Given the description of an element on the screen output the (x, y) to click on. 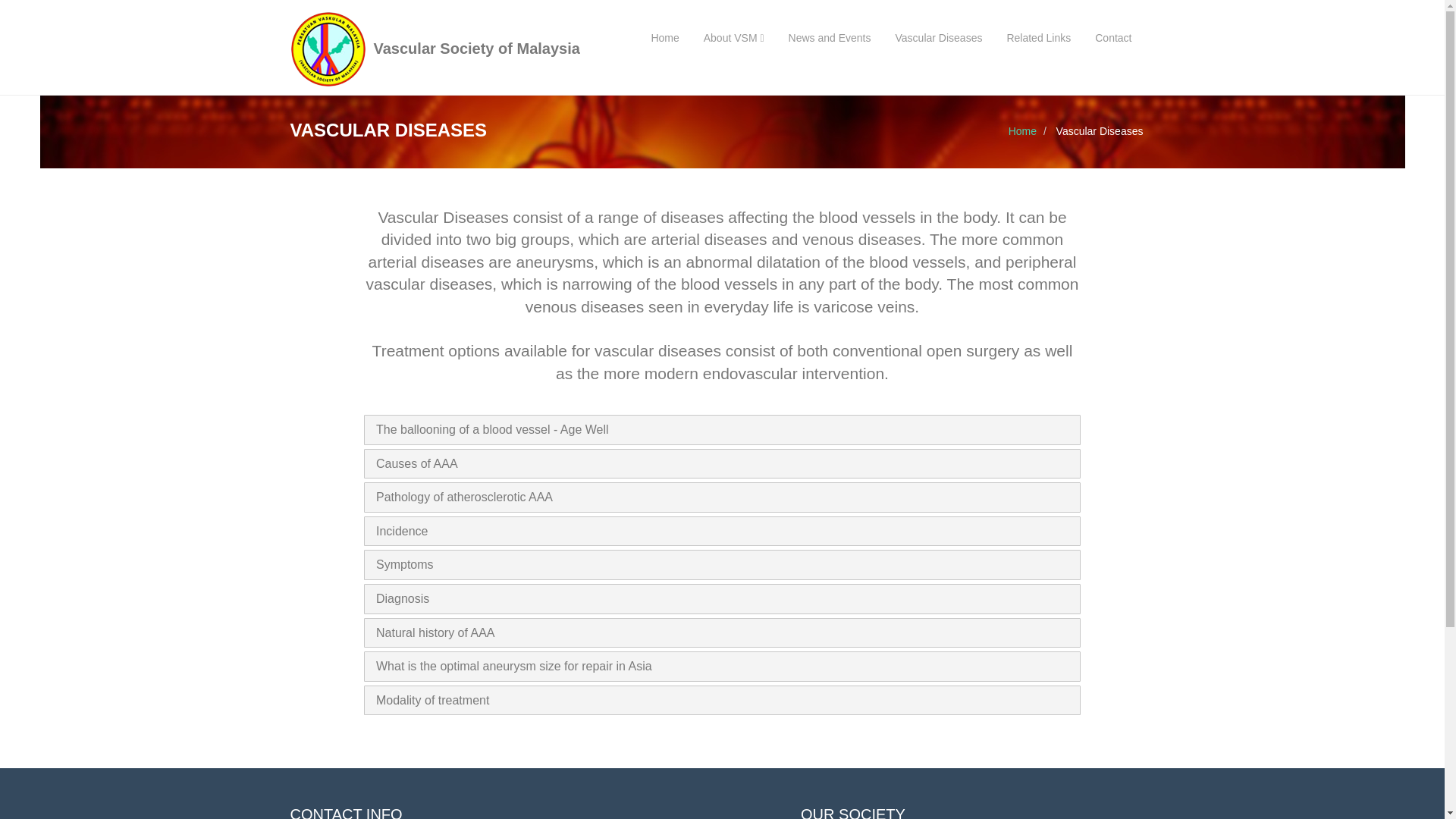
Causes of AAA (416, 472)
Contact (1112, 37)
About VSM (734, 37)
News and Events (829, 37)
The ballooning of a blood vessel - Age Well (491, 439)
Related Links (1037, 37)
Home (1022, 131)
Vascular Diseases (938, 37)
Symptoms (404, 571)
Home (664, 37)
Modality of treatment (432, 705)
What is the optimal aneurysm size for repair in Asia (513, 671)
Natural history of AAA (435, 638)
Incidence (401, 538)
Pathology of atherosclerotic AAA (464, 505)
